Given the description of an element on the screen output the (x, y) to click on. 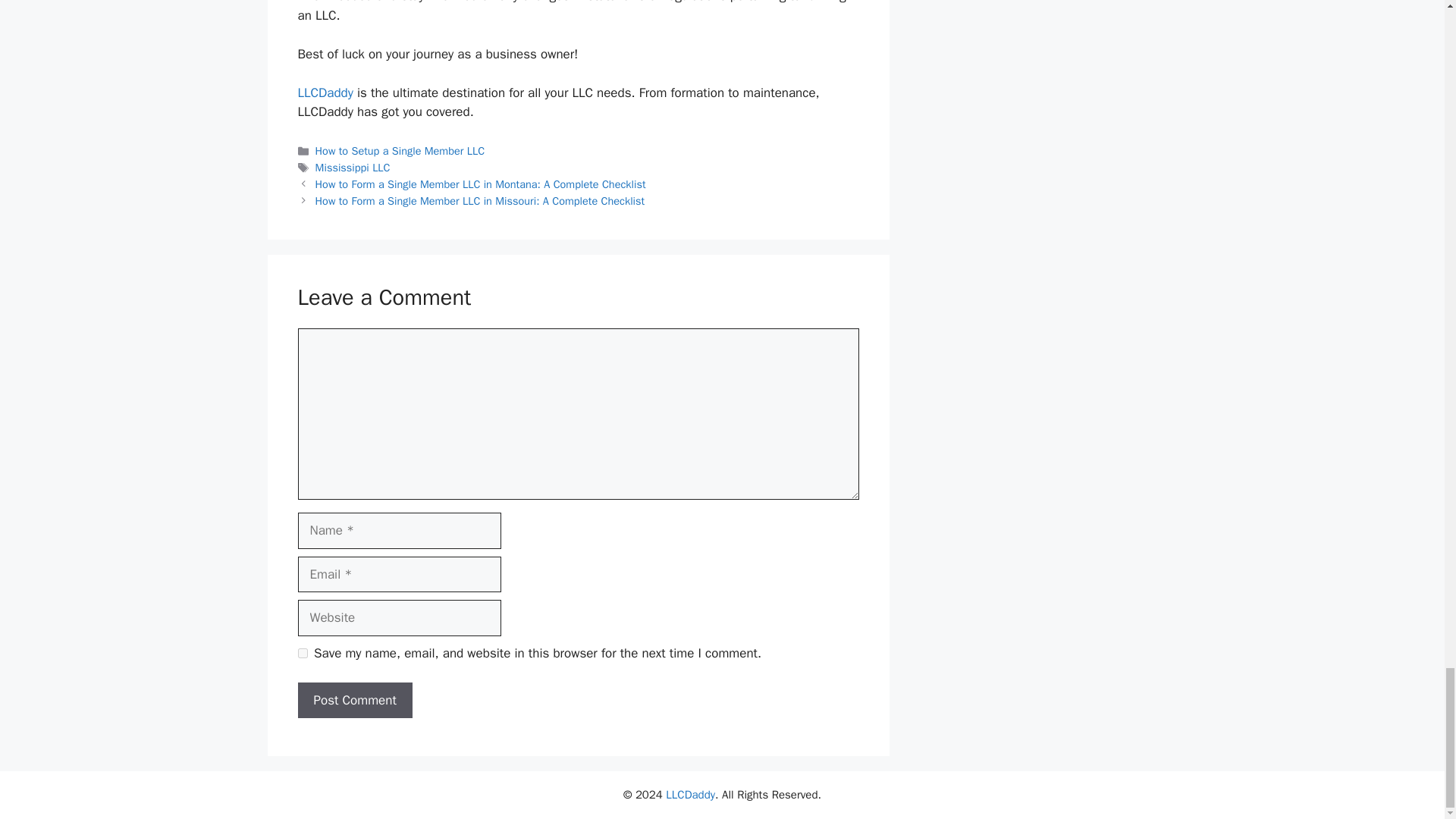
LLCDaddy (324, 92)
yes (302, 653)
LLCDaddy (324, 92)
Post Comment (354, 700)
Post Comment (354, 700)
How to Setup a Single Member LLC (399, 151)
Mississippi LLC (352, 167)
